Given the description of an element on the screen output the (x, y) to click on. 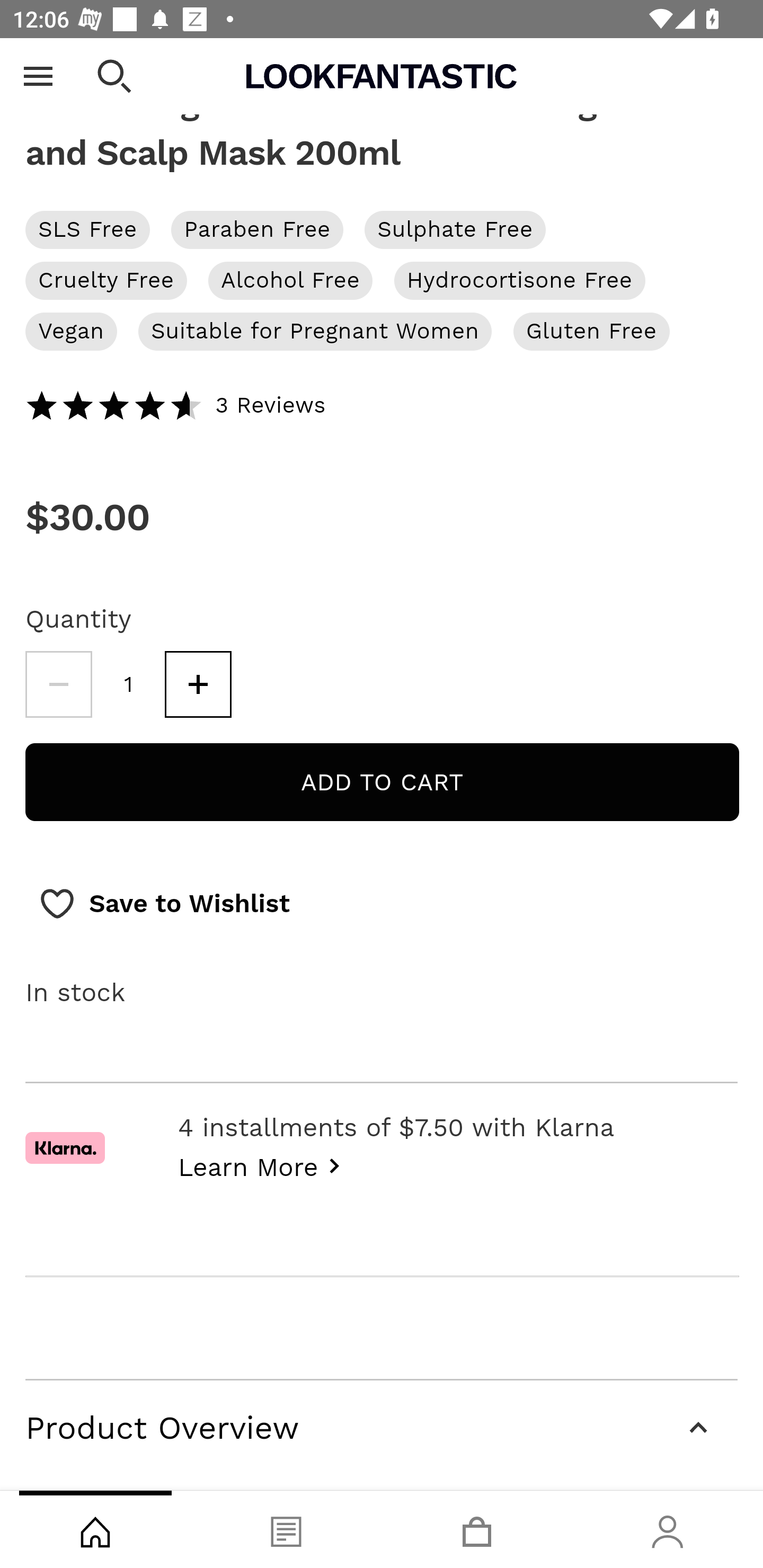
Decrease quantity (58, 685)
1, Quantity (128, 685)
Increase quantity (197, 685)
Add to cart (382, 783)
Save to Wishlist (164, 904)
Learn More about klarna_slice (263, 1165)
Shop, tab, 1 of 4 (95, 1529)
Blog, tab, 2 of 4 (285, 1529)
Basket, tab, 3 of 4 (476, 1529)
Account, tab, 4 of 4 (667, 1529)
